Given the description of an element on the screen output the (x, y) to click on. 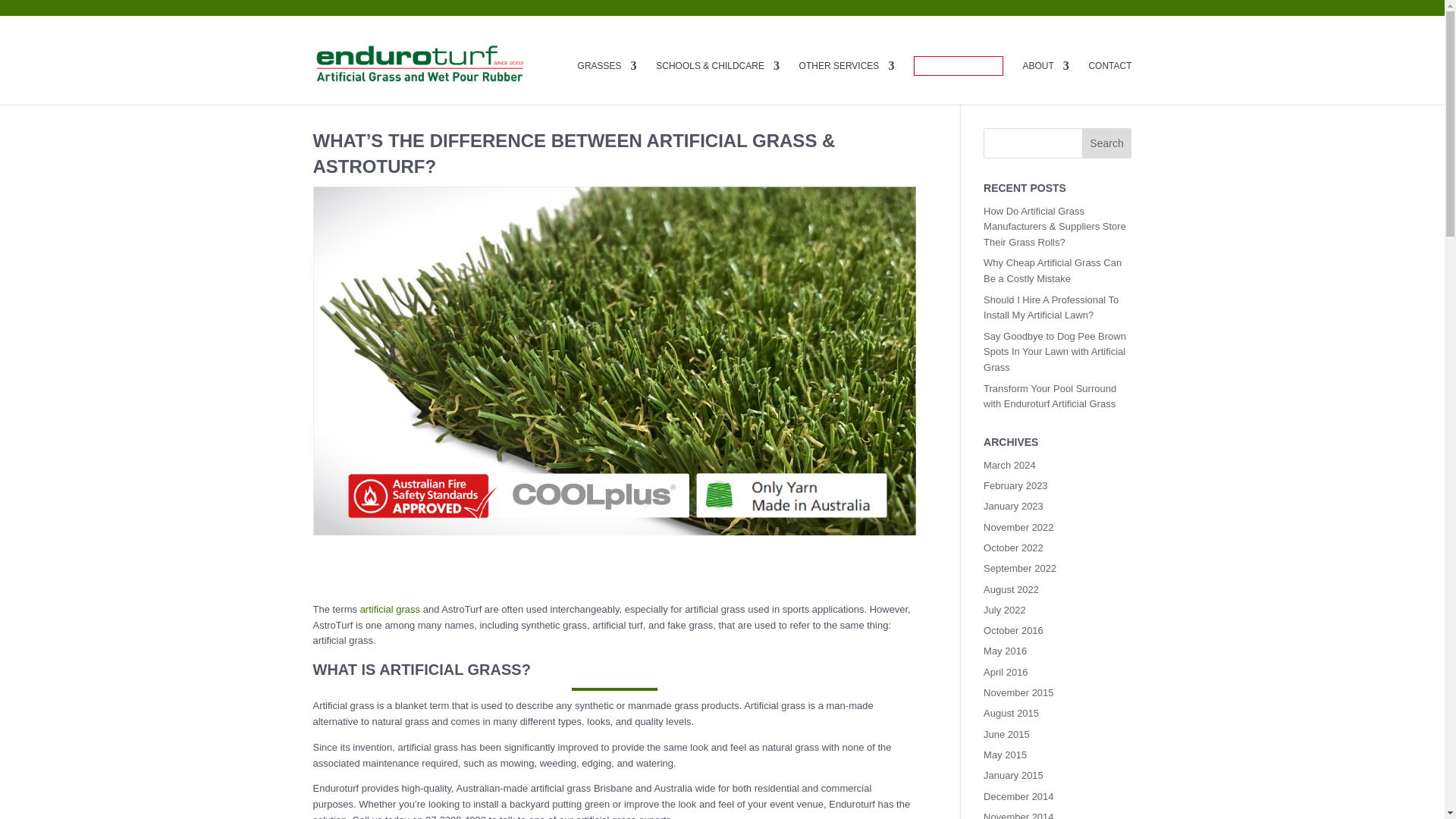
SHOP ONLINE DIY (958, 66)
Should I Hire A Professional To Install My Artificial Lawn? (1051, 307)
ABOUT (1045, 82)
GRASSES (607, 82)
Search (1106, 142)
OTHER SERVICES (847, 82)
Search (1106, 142)
Why Cheap Artificial Grass Can Be a Costly Mistake (1052, 270)
CONTACT (1109, 82)
artificial grass (389, 609)
